Given the description of an element on the screen output the (x, y) to click on. 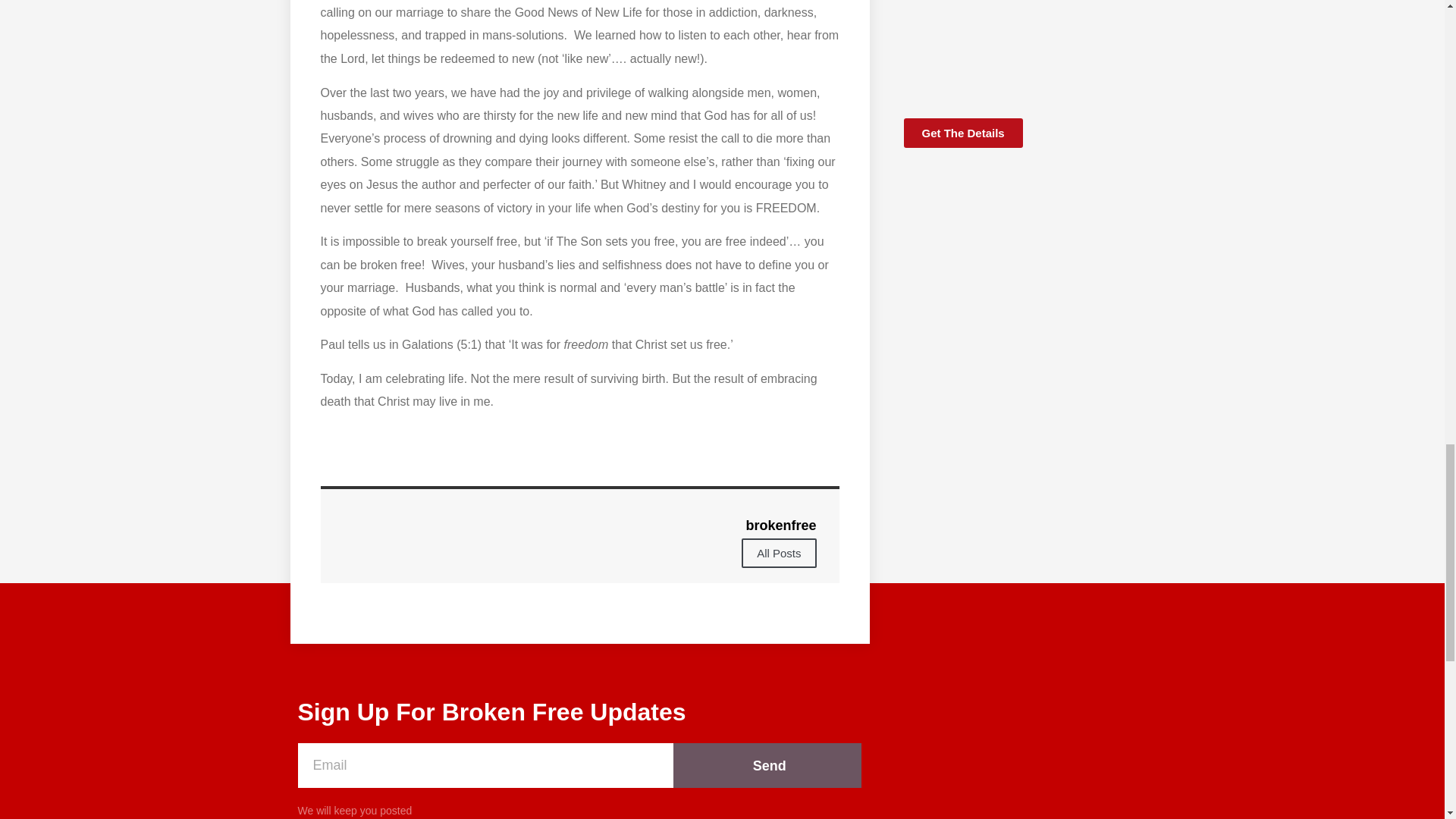
All Posts (778, 553)
